Given the description of an element on the screen output the (x, y) to click on. 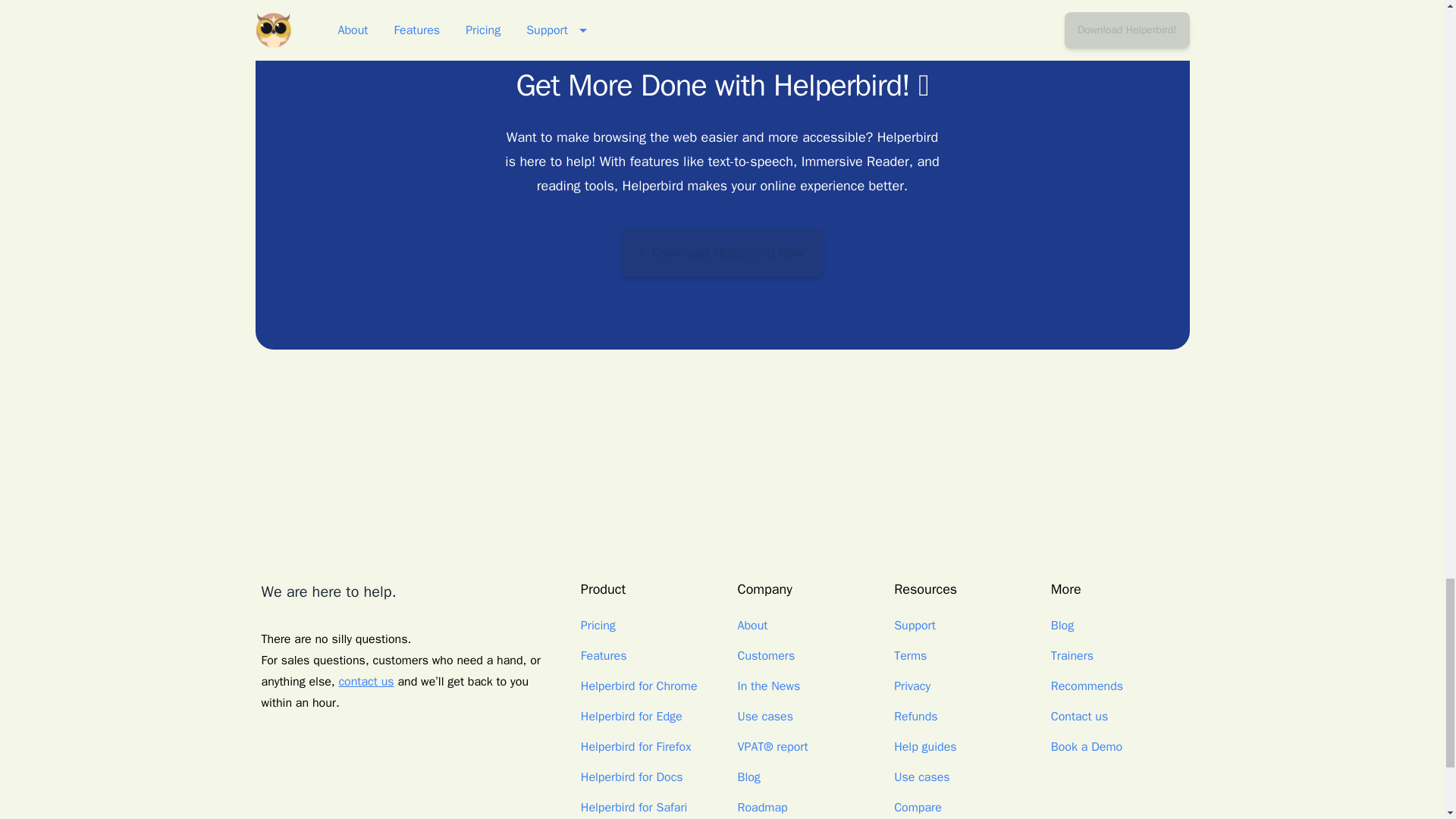
Support (914, 625)
Learn more about Helperbird's Firefox extension (635, 746)
Learn more about Helperbird's Chrome extension (638, 685)
Helperbird for Safari (633, 807)
Helperbird for Chrome (638, 685)
Features (603, 655)
Use cases (764, 716)
Discover the key features of Helperbird (603, 655)
Pricing (597, 625)
Get in touch with the Helperbird team (365, 681)
Privacy (911, 685)
Customers (765, 655)
Helperbird for Edge (631, 716)
Learn more about Helperbird's Edge extension (631, 716)
Helperbird for Docs (631, 776)
